Given the description of an element on the screen output the (x, y) to click on. 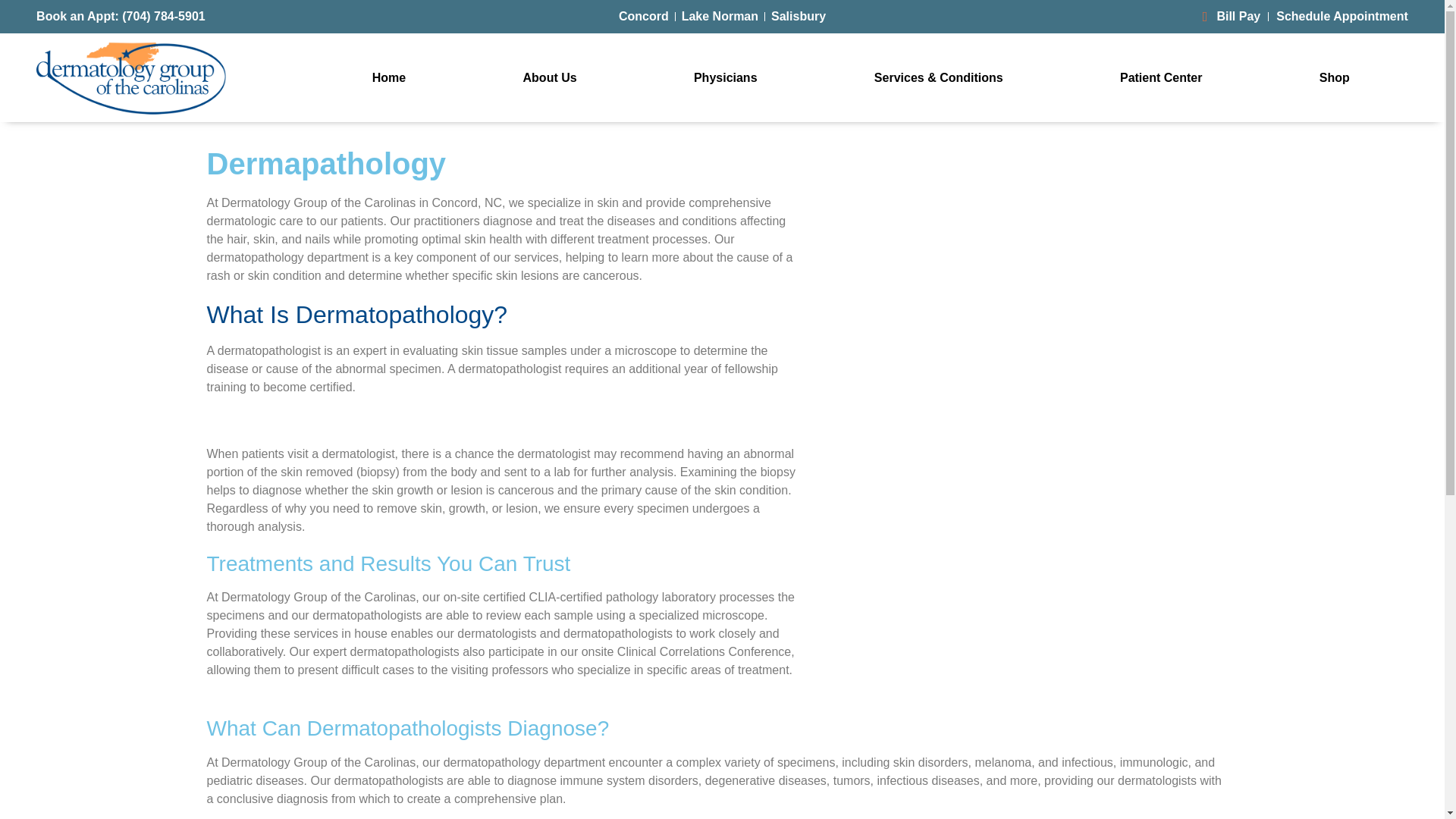
Bill Pay (1225, 16)
Concord (643, 16)
Home (389, 77)
Salisbury (798, 16)
Lake Norman (719, 16)
Patient Center (1160, 77)
Schedule Appointment (1341, 16)
Physicians (724, 77)
About Us (549, 77)
